Given the description of an element on the screen output the (x, y) to click on. 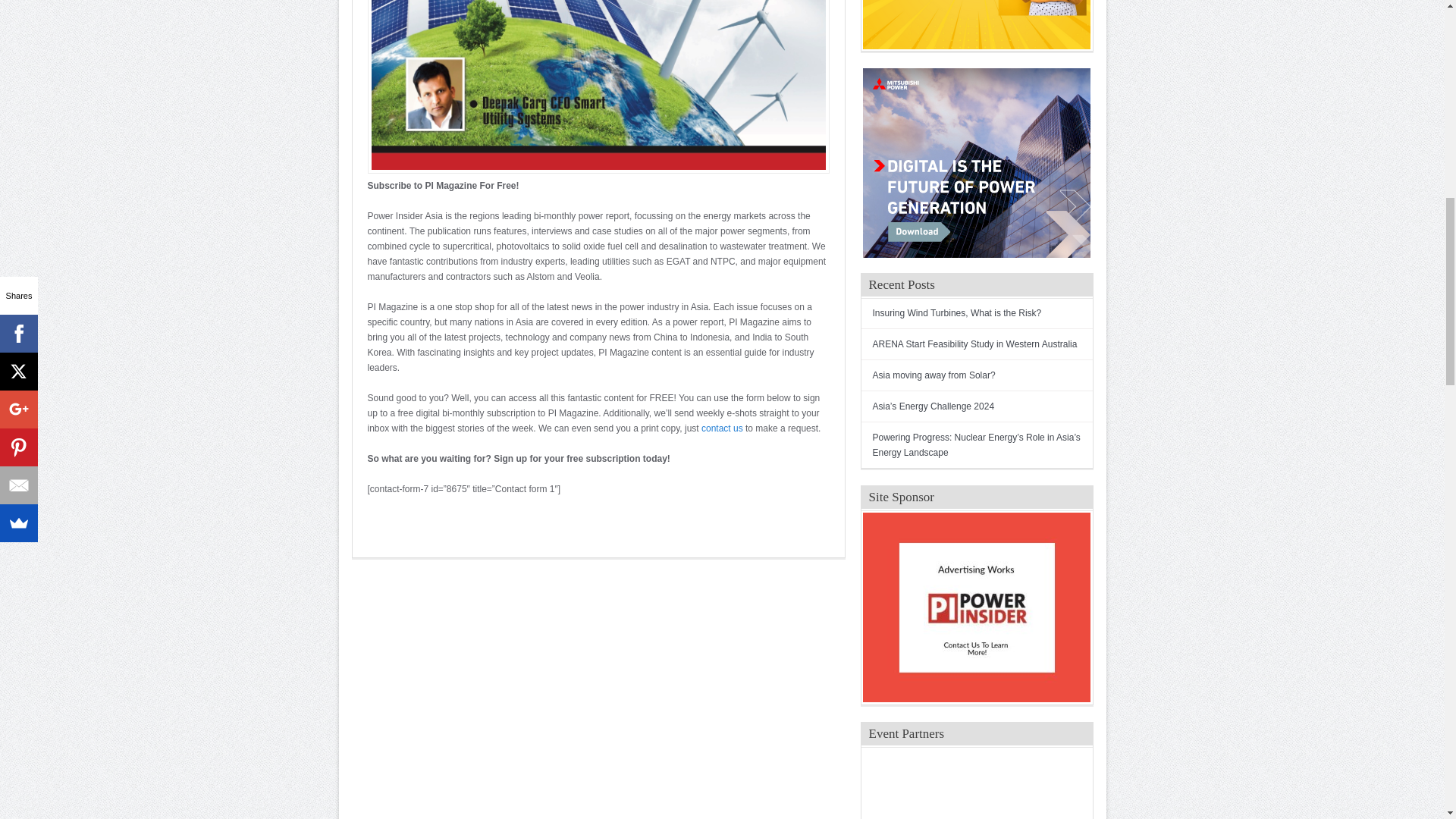
contact us (721, 428)
Asia moving away from Solar? (933, 375)
ARENA Start Feasibility Study in Western Australia (974, 344)
Insuring Wind Turbines, What is the Risk? (956, 312)
